Given the description of an element on the screen output the (x, y) to click on. 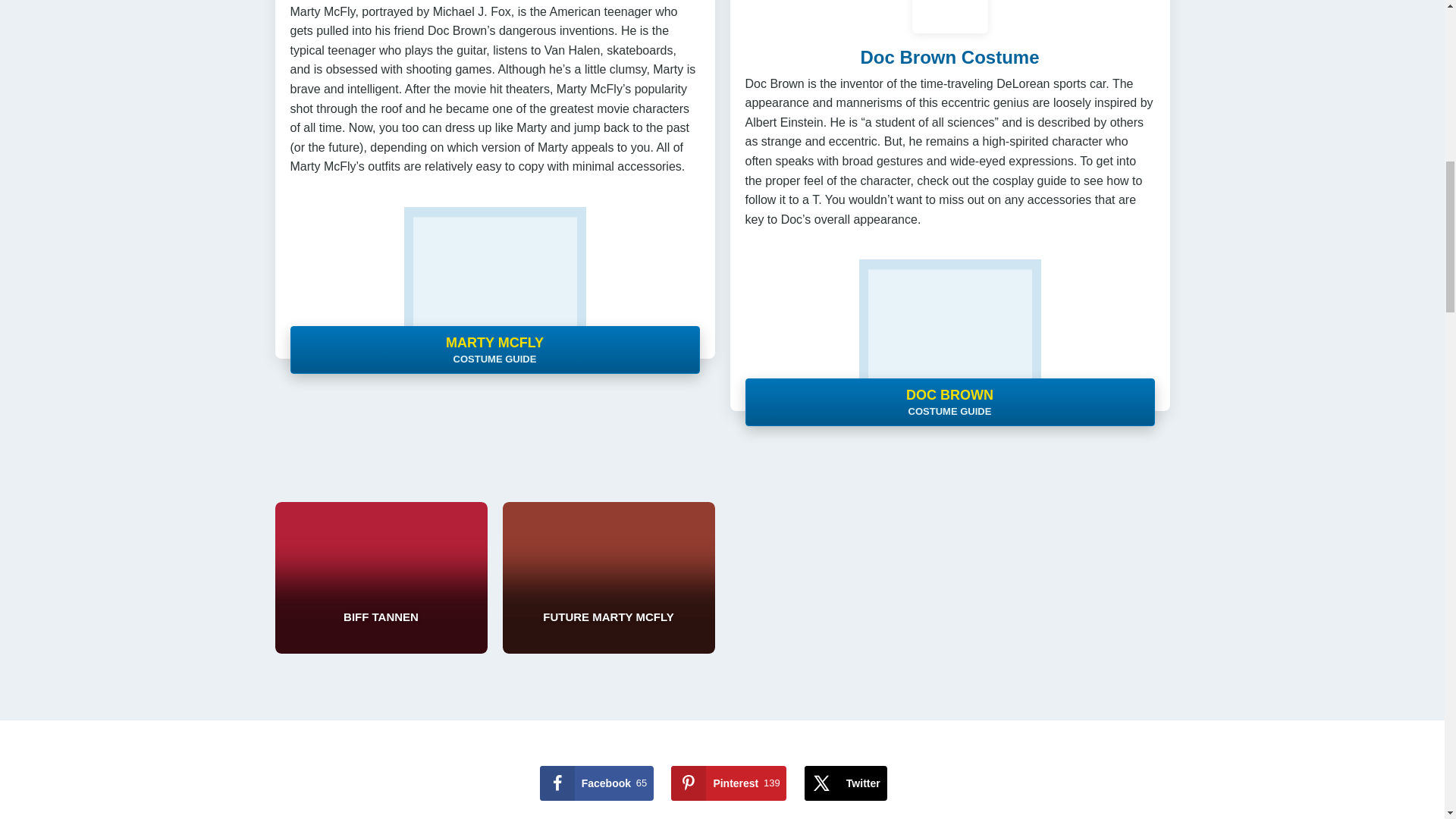
Twitter (845, 782)
FUTURE MARTY MCFLY (608, 577)
BIFF TANNEN (596, 782)
DOC BROWN COSTUME GUIDE (380, 577)
Share on Facebook (728, 782)
 Costume Guide (949, 335)
MARTY MCFLY COSTUME GUIDE (596, 782)
Doc Brown Costume Guide (949, 56)
